Given the description of an element on the screen output the (x, y) to click on. 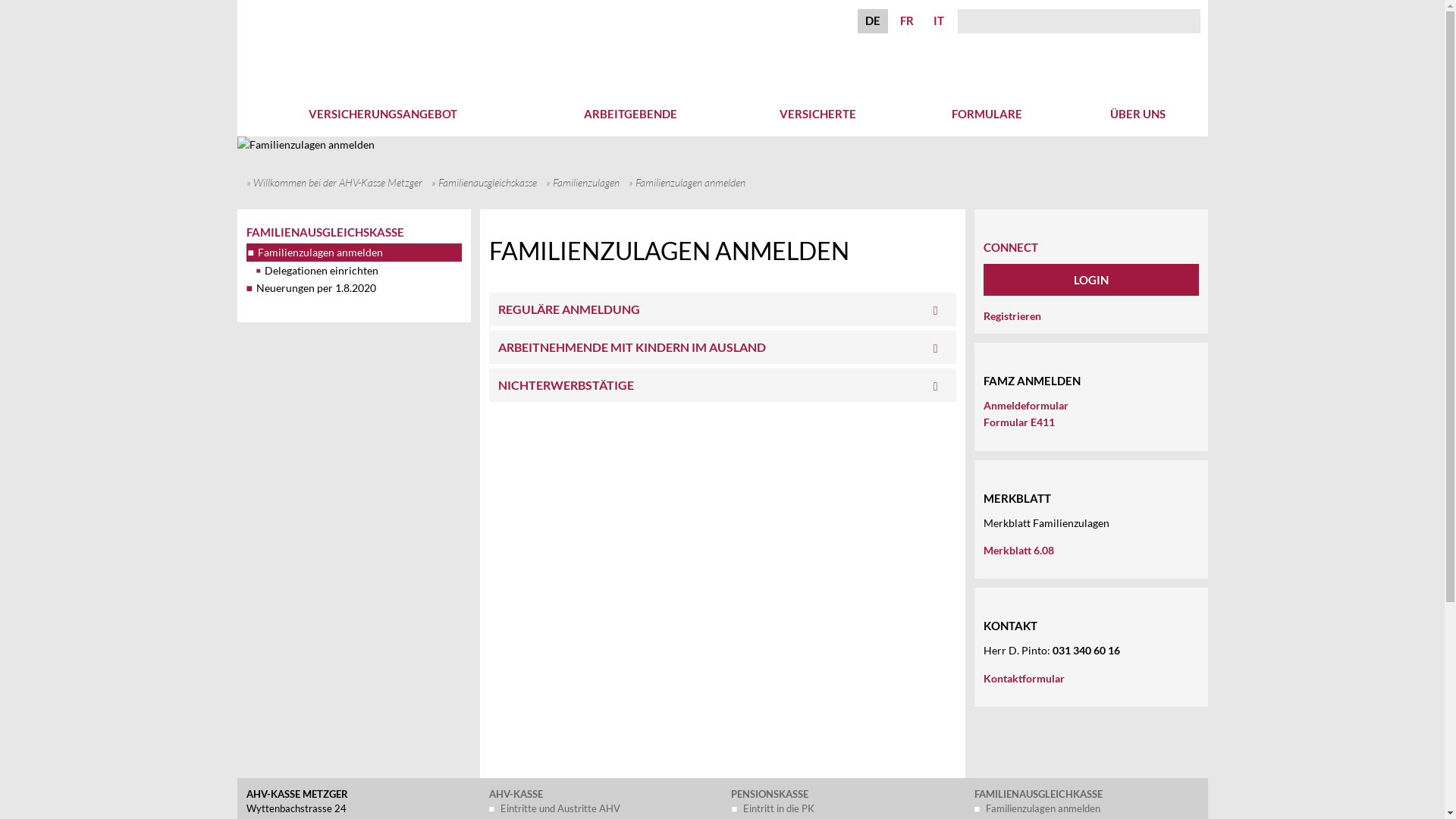
AHV-KASSE Element type: text (515, 793)
FR Element type: text (906, 20)
DE Element type: text (872, 20)
Neuerungen per 1.8.2020 Element type: text (310, 287)
Delegationen einrichten Element type: text (357, 270)
Familienzulagen anmelden Element type: text (1042, 808)
PENSIONSKASSE Element type: text (769, 793)
Home Element type: hover (324, 16)
Kontaktformular Element type: text (1022, 677)
Eintritte und Austritte AHV Element type: text (560, 808)
Willkommen bei der AHV-Kasse Metzger Element type: text (342, 181)
Familienzulagen anmelden Element type: text (353, 252)
IT Element type: text (938, 20)
Familienausgleichskasse Element type: text (492, 181)
ARBEITNEHMENDE MIT KINDERN IM AUSLAND Element type: text (721, 347)
Eintritt in die PK Element type: text (778, 808)
FAMILIENAUSGLEICHKASSE Element type: text (1038, 793)
LOGIN Element type: text (1090, 279)
Formular E411 Element type: text (1018, 421)
Familienzulagen anmelden Element type: hover (304, 150)
Registrieren Element type: text (1011, 315)
Merkblatt 6.08 Element type: text (1017, 549)
Anmeldeformular Element type: text (1024, 404)
CONNECT Element type: text (1009, 240)
Familienzulagen Element type: text (589, 181)
FAMILIENAUSGLEICHSKASSE Element type: text (324, 231)
